Given the description of an element on the screen output the (x, y) to click on. 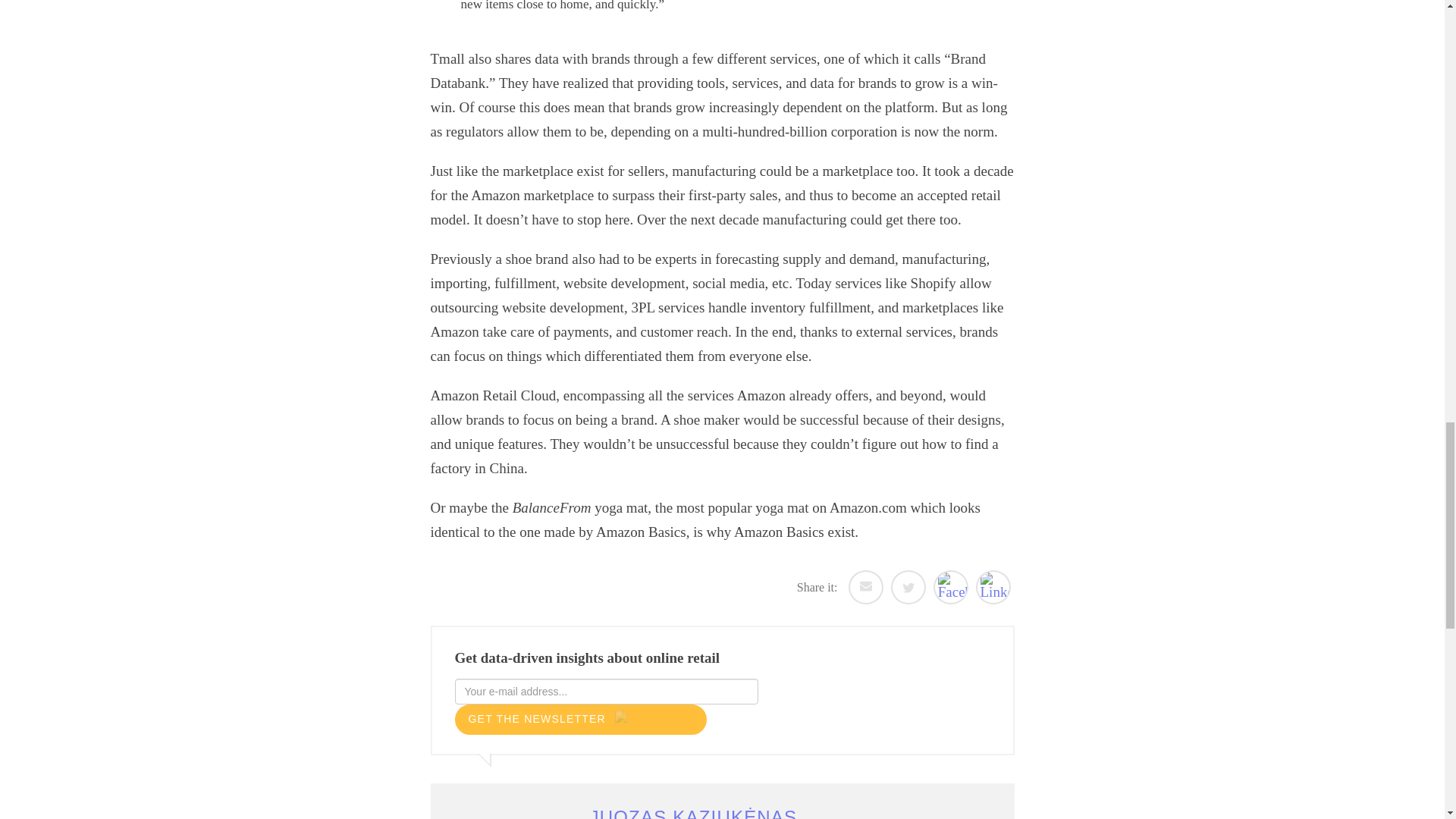
GET THE NEWSLETTER (580, 719)
